Given the description of an element on the screen output the (x, y) to click on. 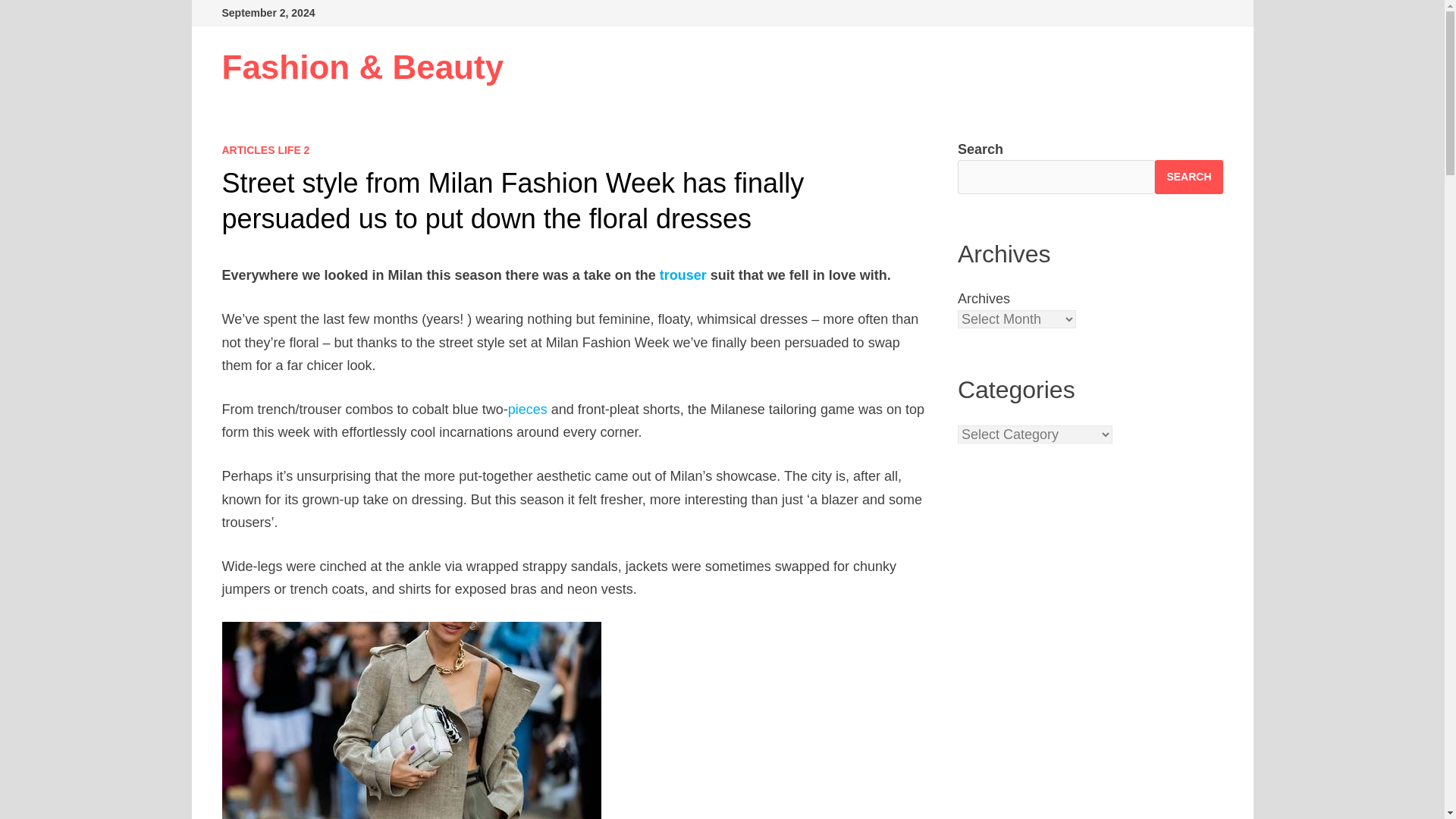
SEARCH (1188, 176)
trouser (682, 274)
pieces (527, 409)
ARTICLES LIFE 2 (264, 150)
